Given the description of an element on the screen output the (x, y) to click on. 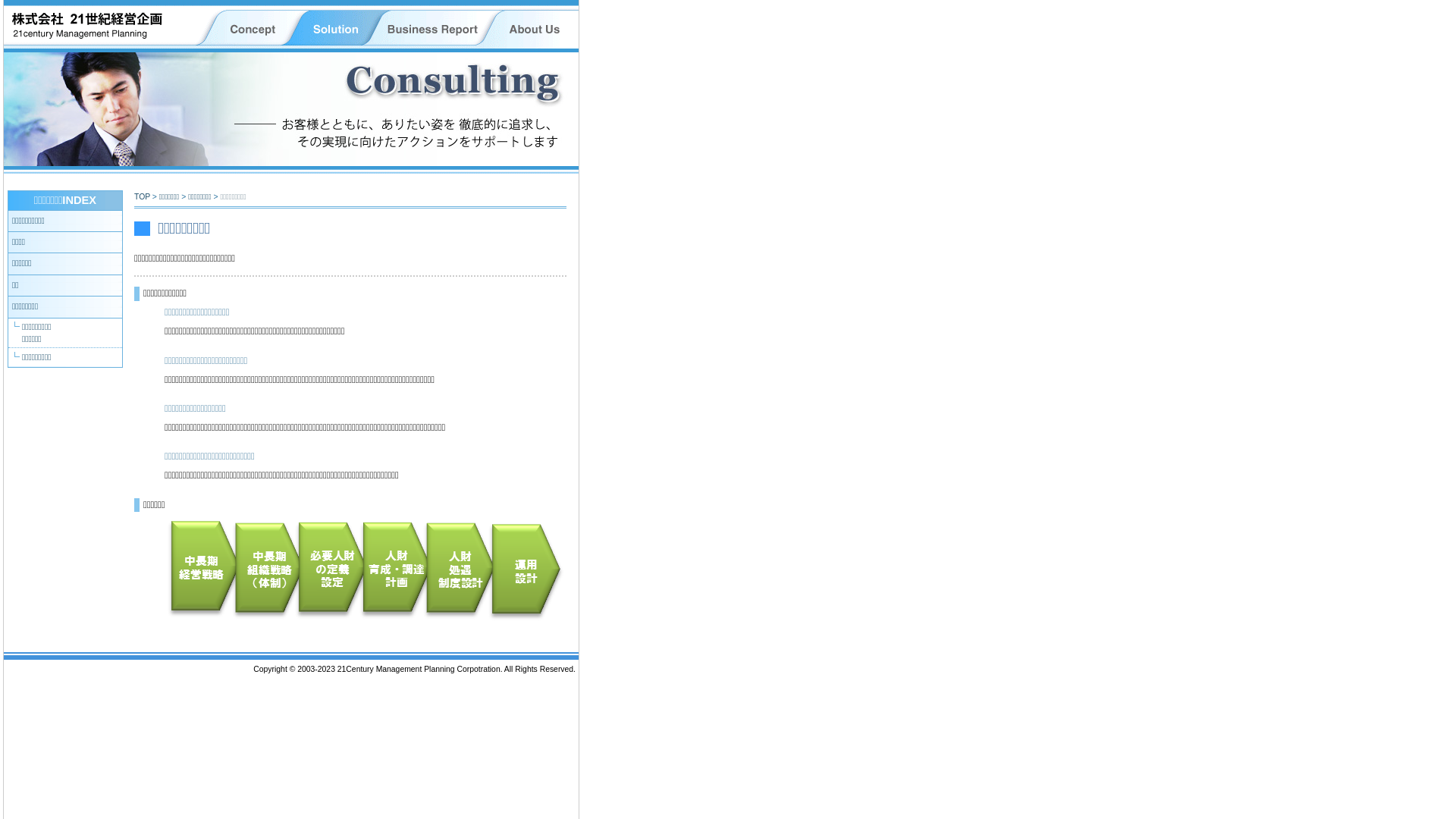
TOP Element type: text (142, 196)
